Given the description of an element on the screen output the (x, y) to click on. 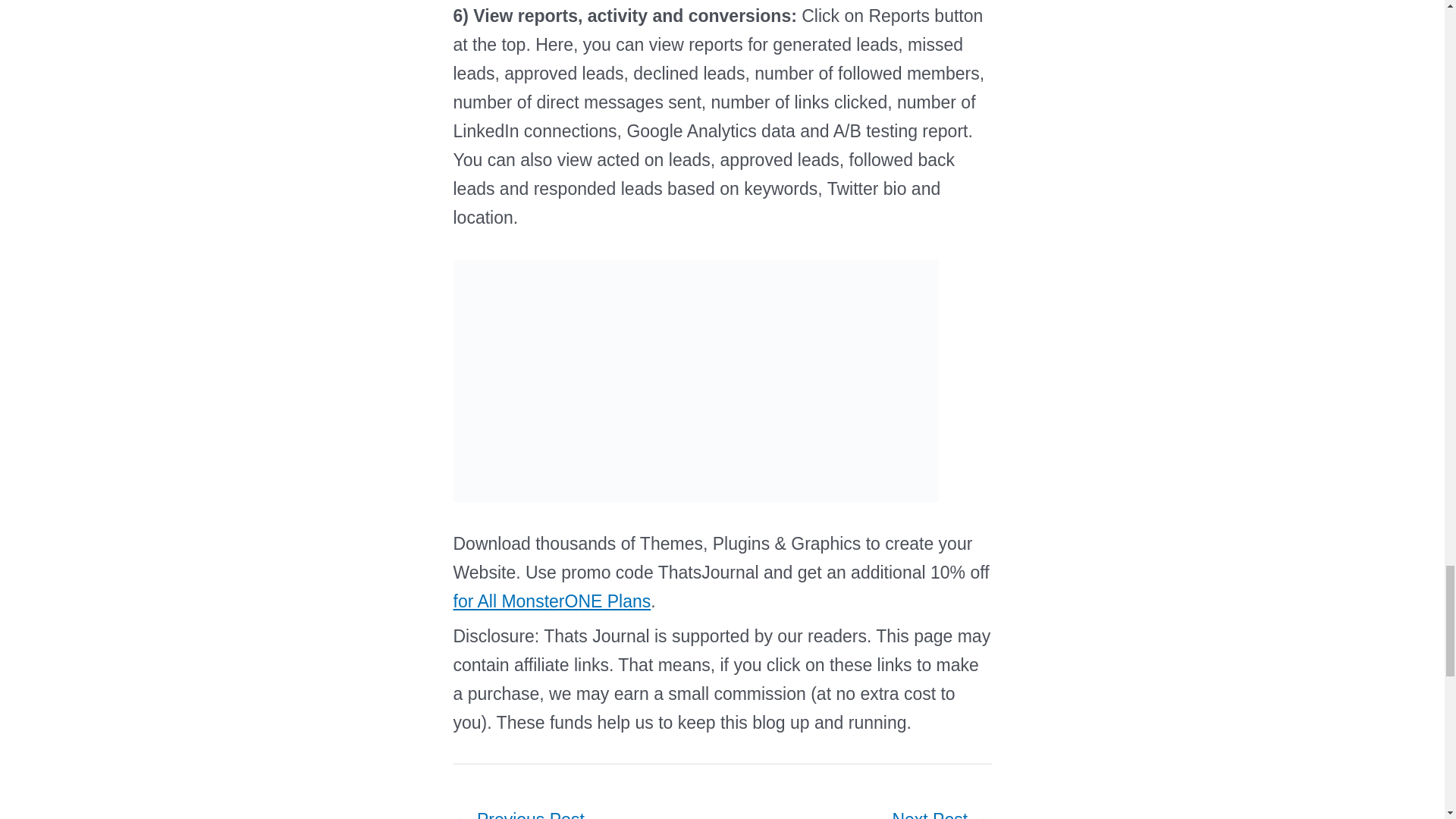
for All MonsterONE Plans (551, 600)
Automatic Social Media Posting of Old WordPress Blog Posts (519, 809)
View reports, activity and conversions in Socedo (695, 381)
Social Media, SEO And SEM Competitor Analysis Using RivalIQ (940, 809)
